Given the description of an element on the screen output the (x, y) to click on. 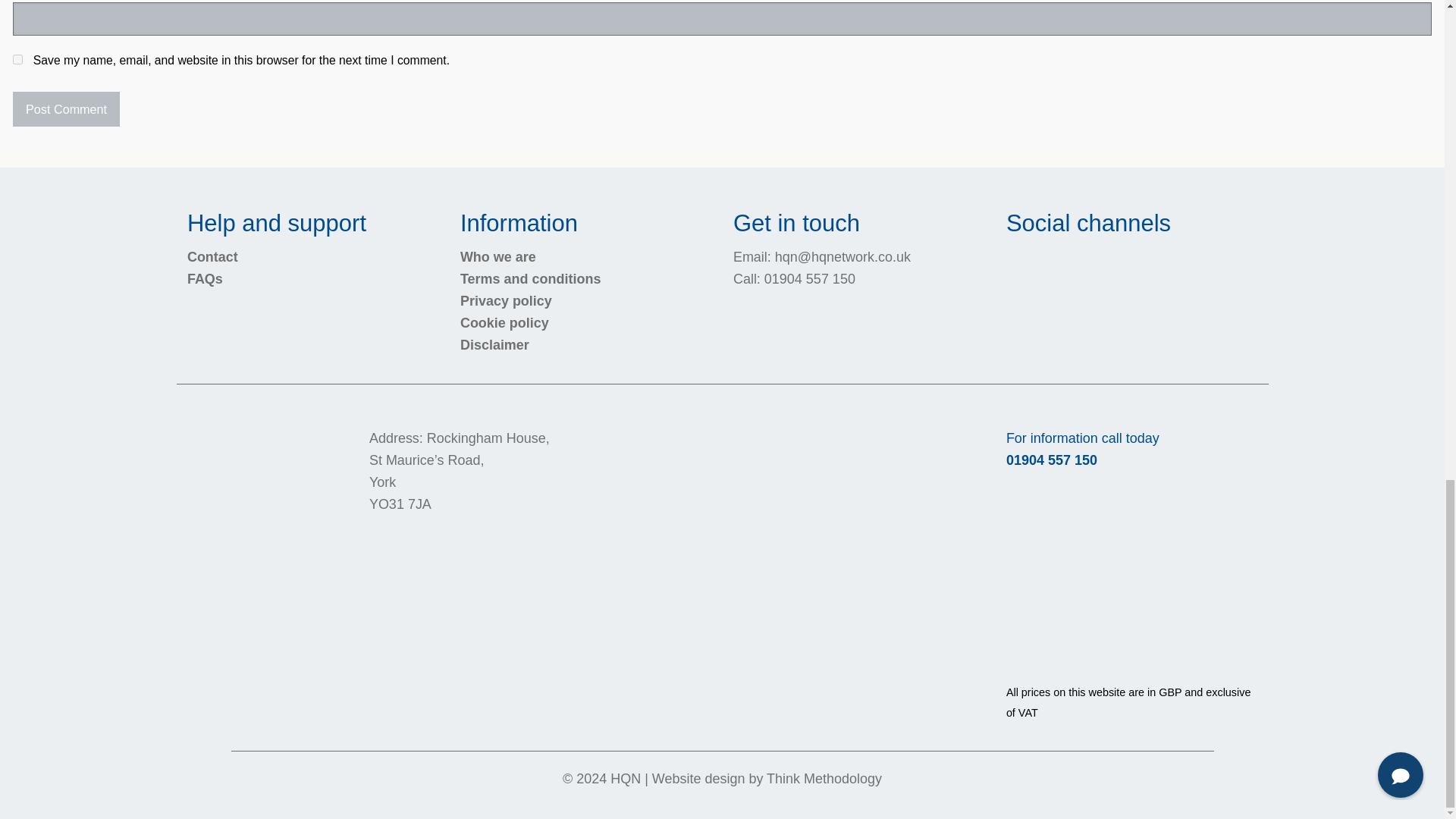
yes (18, 59)
Post Comment (66, 108)
